Given the description of an element on the screen output the (x, y) to click on. 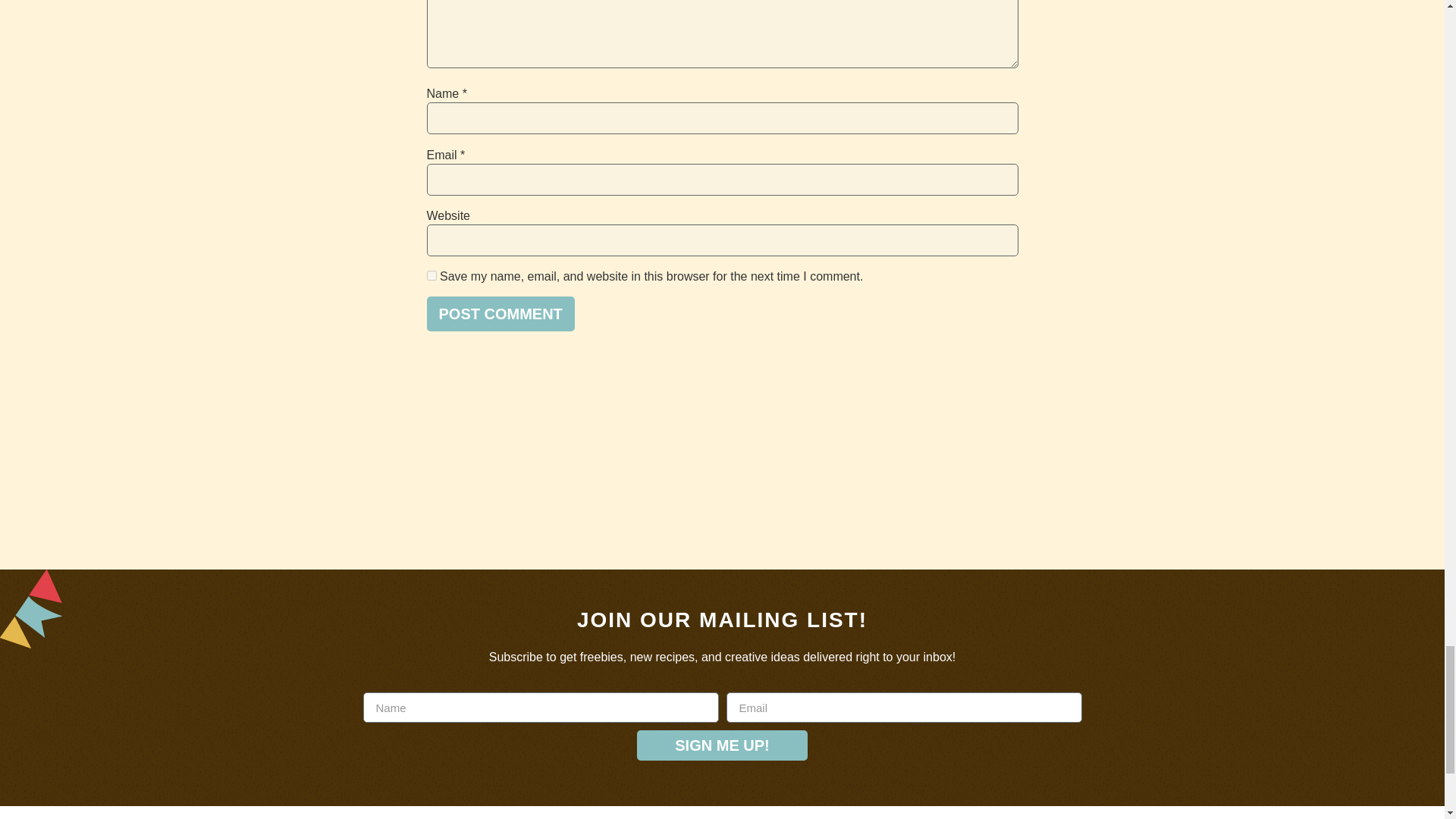
yes (430, 275)
Post Comment (499, 313)
